Given the description of an element on the screen output the (x, y) to click on. 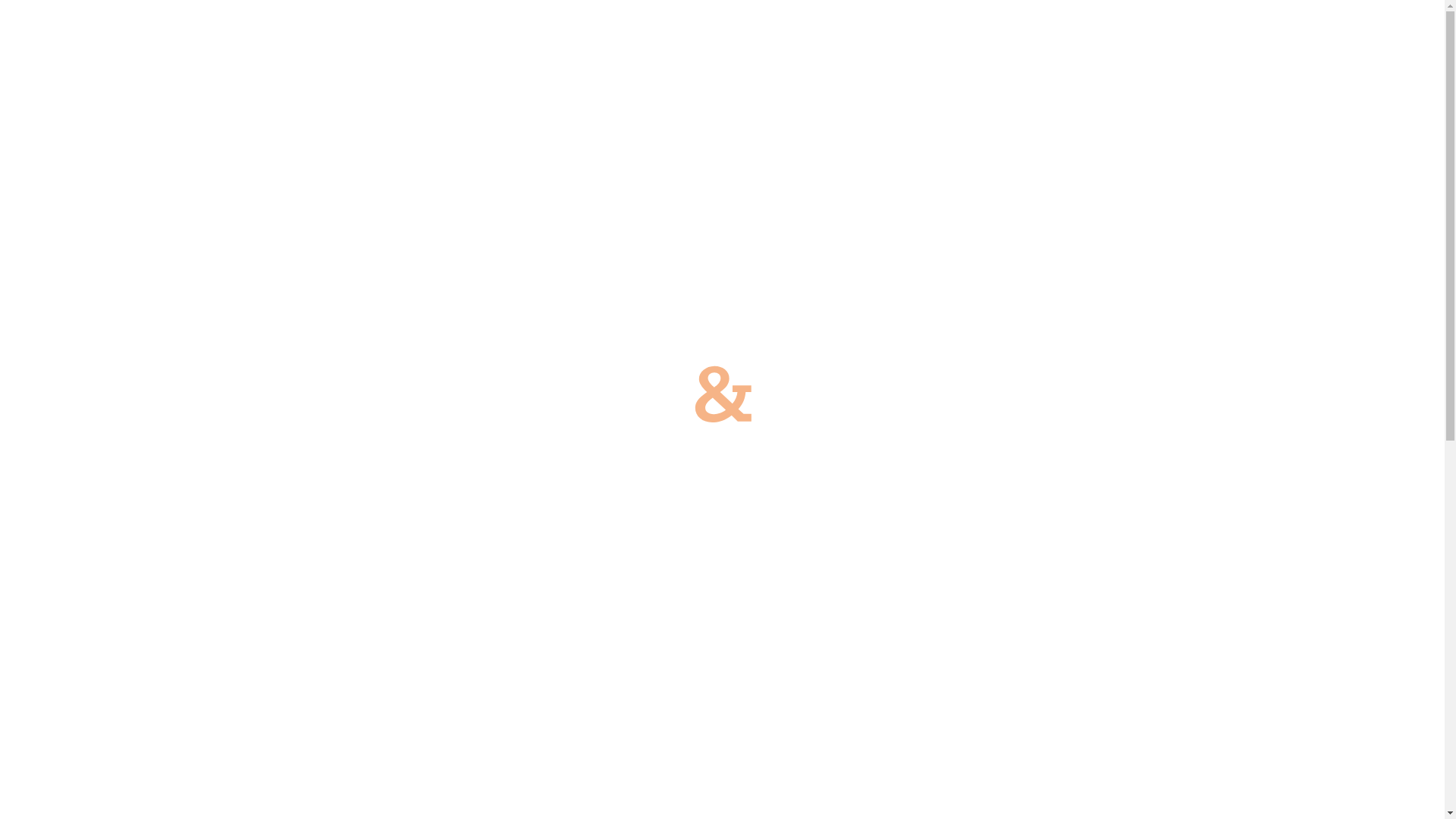
About Us Element type: text (792, 34)
Contact Element type: text (1267, 34)
GET A QUOTE Element type: text (1374, 37)
People & Careers Element type: text (1039, 34)
News Element type: text (940, 34)
Services Element type: text (872, 34)
here Element type: text (785, 718)
Idler Assembly Element type: text (1169, 34)
